Given the description of an element on the screen output the (x, y) to click on. 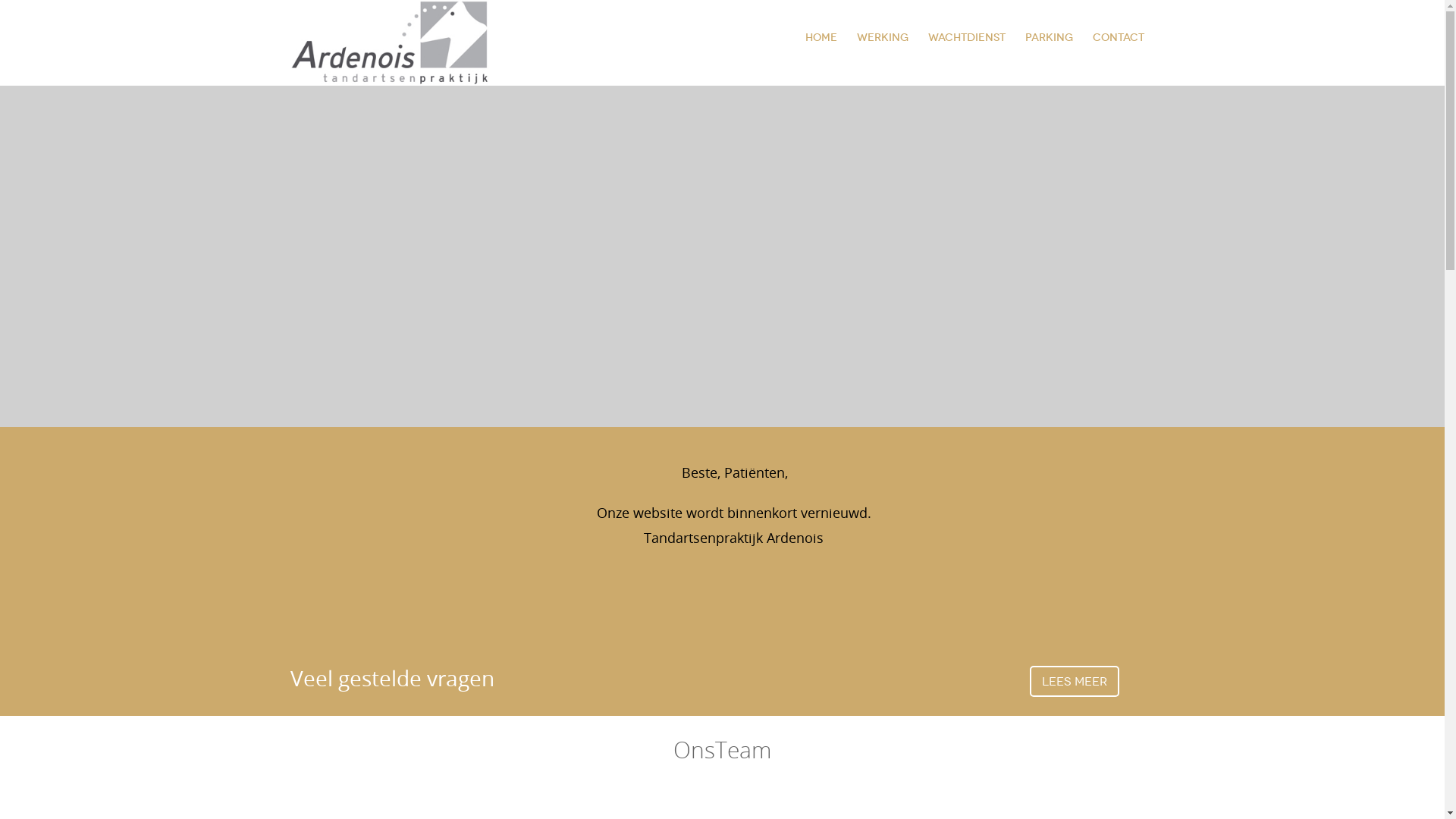
WACHTDIENST Element type: text (965, 37)
WERKING Element type: text (881, 37)
Overslaan en naar de inhoud gaan Element type: text (77, 0)
Lees meer Element type: text (1074, 680)
CONTACT Element type: text (1118, 37)
PARKING Element type: text (1048, 37)
HOME Element type: text (820, 37)
